Given the description of an element on the screen output the (x, y) to click on. 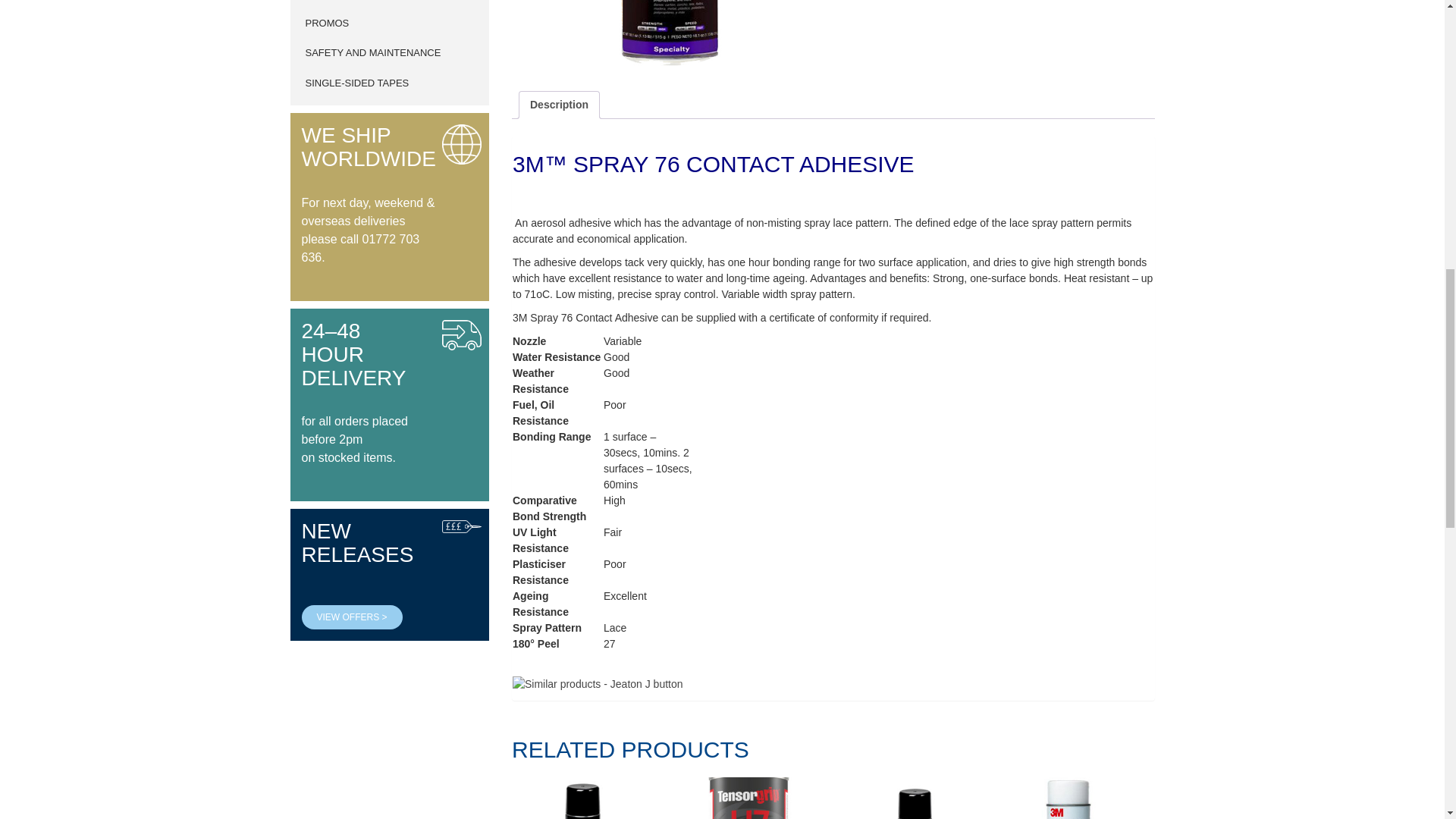
76-spray-adhesive (666, 34)
